Given the description of an element on the screen output the (x, y) to click on. 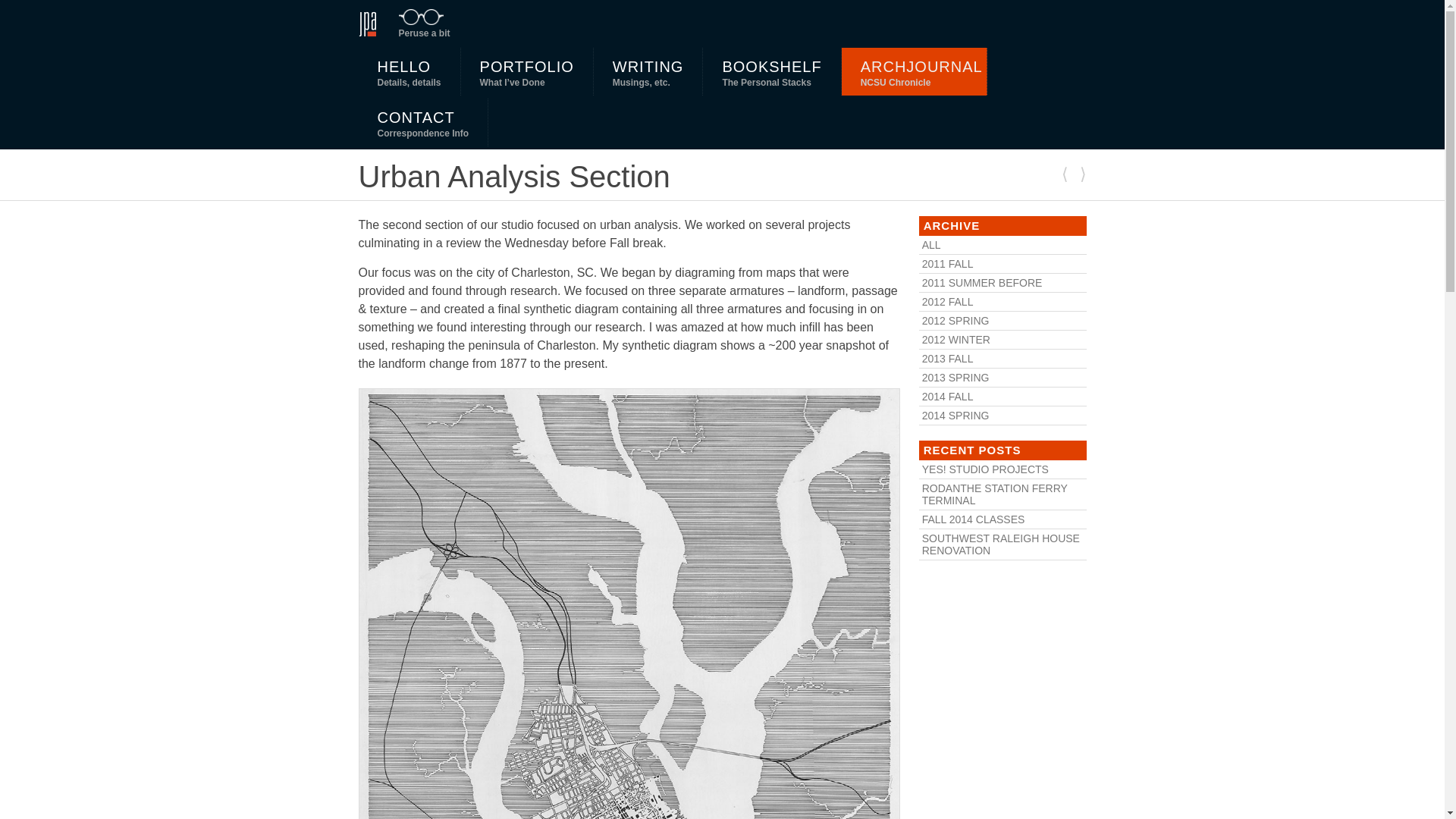
2011 SUMMER BEFORE (772, 71)
contact (1002, 282)
Peruse a bit (422, 122)
SOUTHWEST RALEIGH HOUSE RENOVATION (416, 22)
writing (1002, 544)
2014 SPRING (648, 71)
2011 FALL (409, 71)
